Given the description of an element on the screen output the (x, y) to click on. 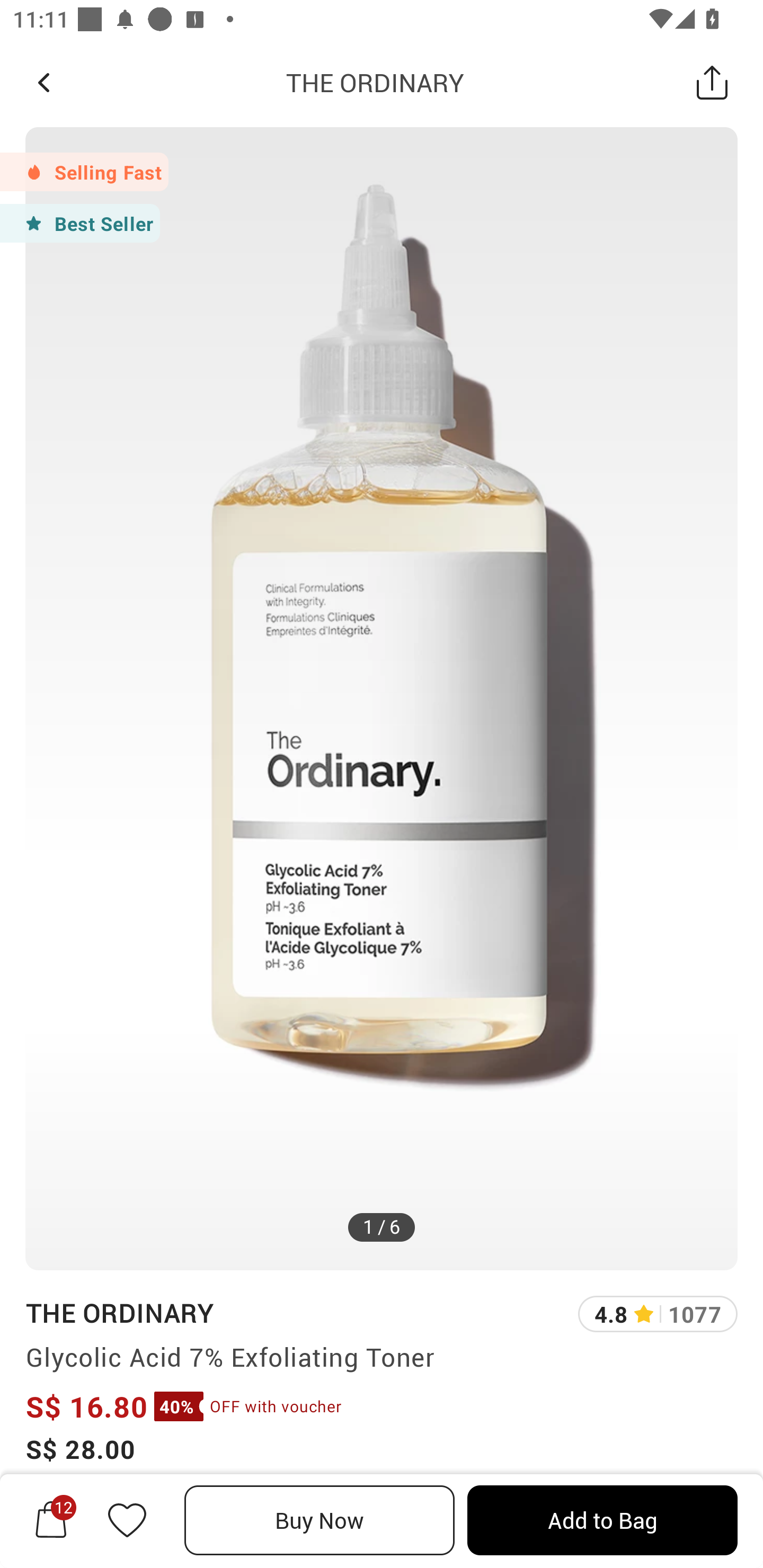
THE ORDINARY (375, 82)
Share this Product (711, 82)
THE ORDINARY (119, 1312)
4.8 1077 (657, 1313)
Buy Now (319, 1519)
Add to Bag (601, 1519)
12 (50, 1520)
